Given the description of an element on the screen output the (x, y) to click on. 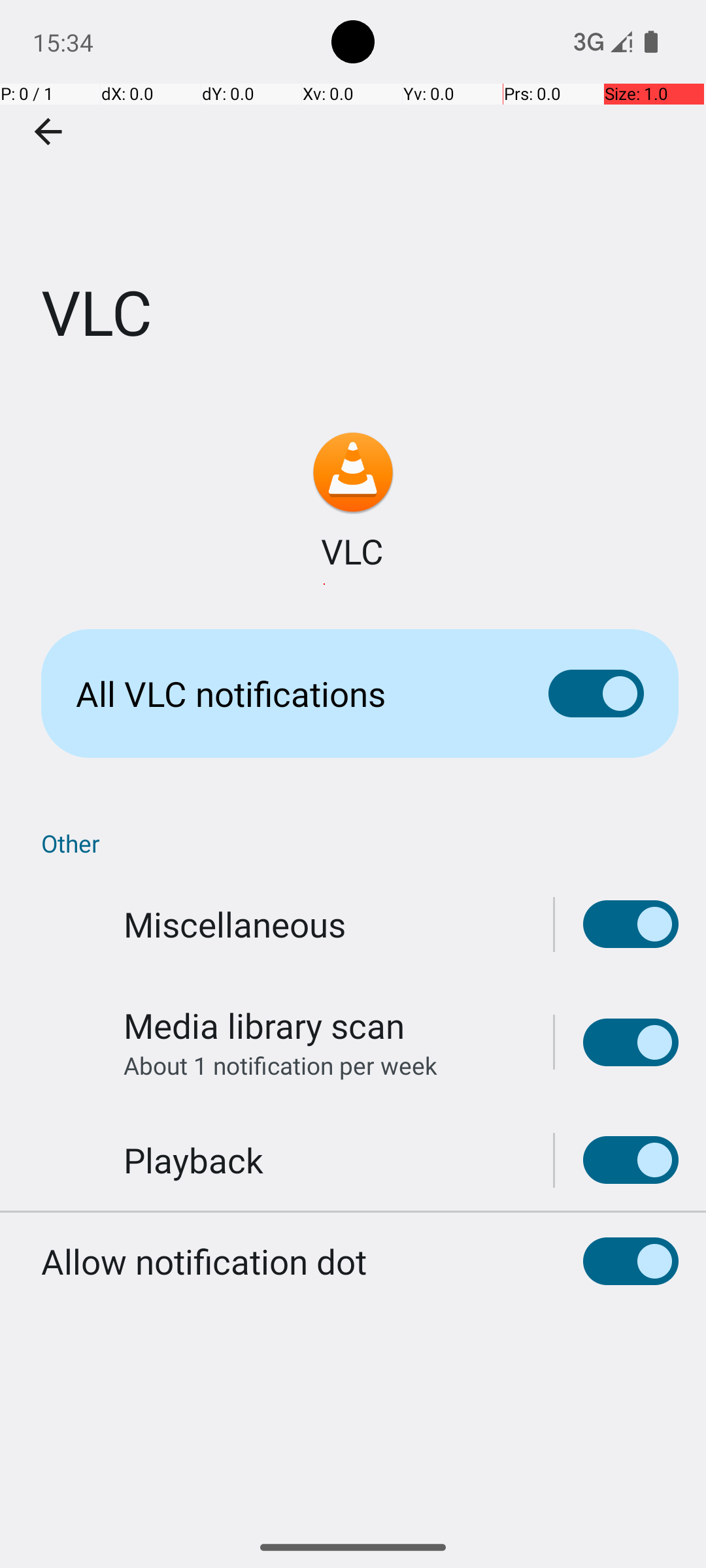
All VLC notifications Element type: android.widget.TextView (291, 693)
Media library scan Element type: android.widget.TextView (264, 1025)
About 1 notification per week Element type: android.widget.TextView (280, 1064)
Playback Element type: android.widget.TextView (193, 1159)
